Given the description of an element on the screen output the (x, y) to click on. 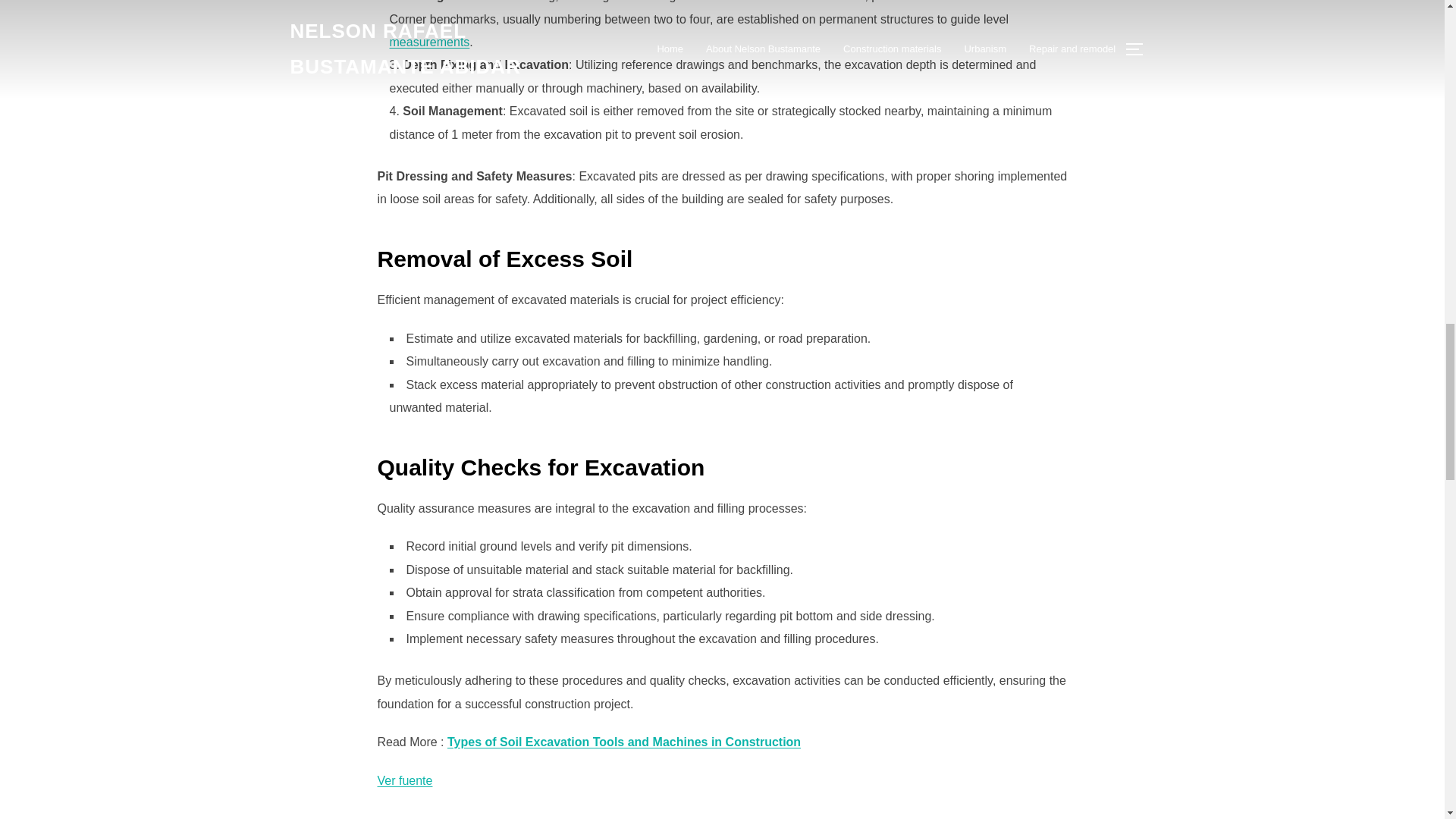
Work Procedure of Excavation at Construction Site (404, 780)
